Given the description of an element on the screen output the (x, y) to click on. 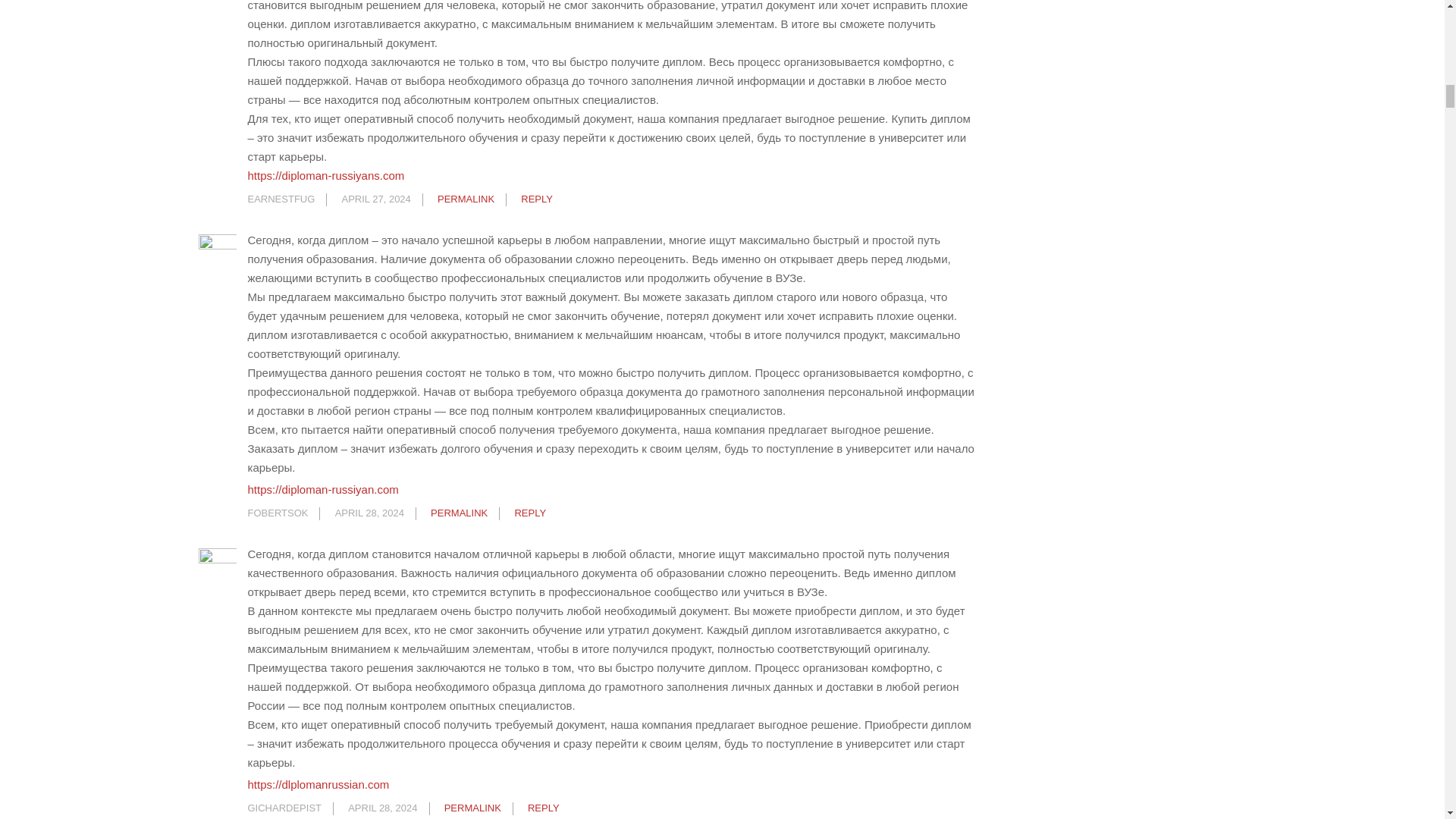
Sunday, April 28, 2024, 6:33 am (369, 512)
Sunday, April 28, 2024, 5:44 pm (381, 808)
REPLY (537, 198)
Saturday, April 27, 2024, 7:22 pm (376, 198)
PERMALINK (466, 198)
REPLY (529, 512)
PERMALINK (458, 512)
